Given the description of an element on the screen output the (x, y) to click on. 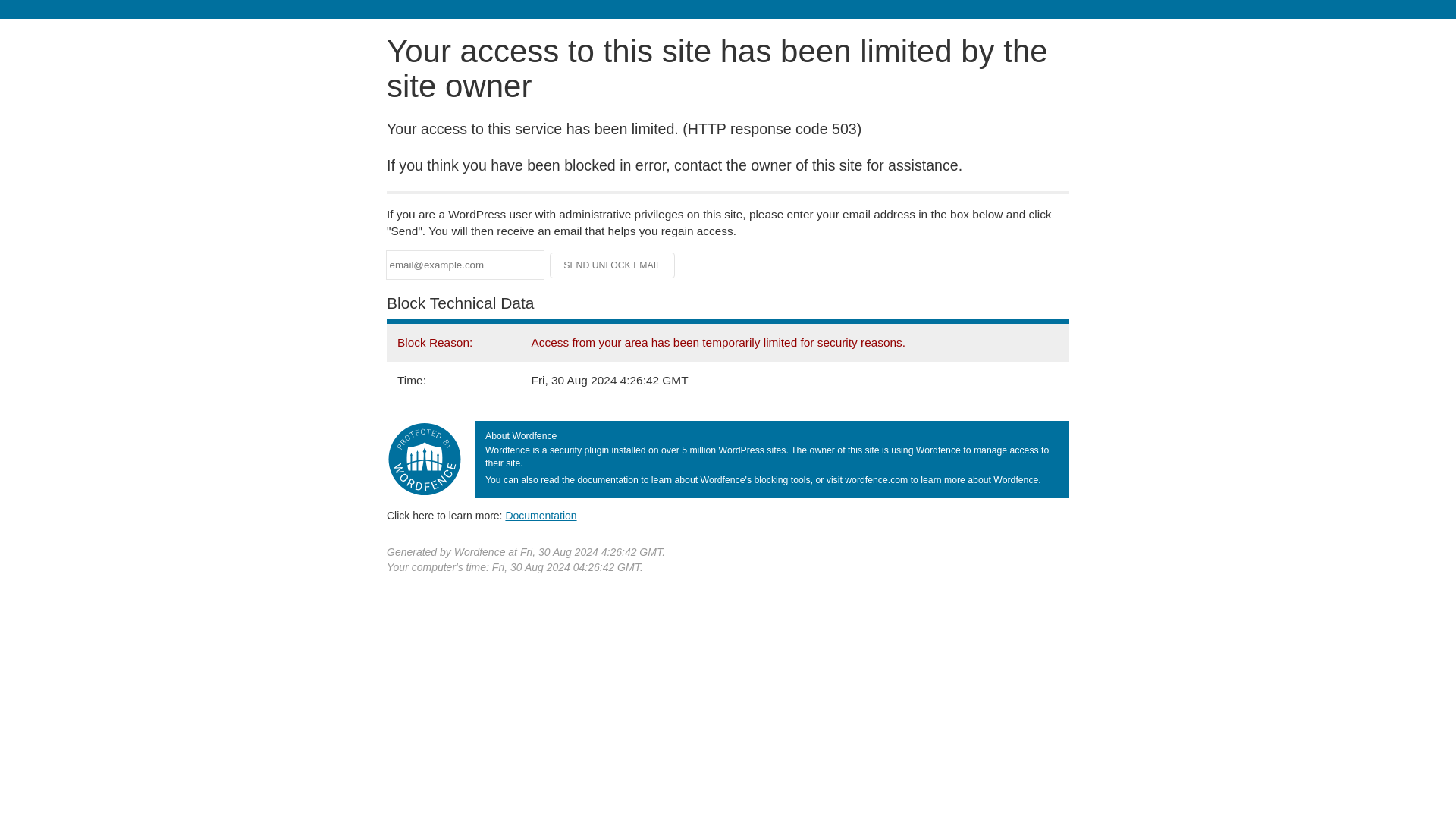
Send Unlock Email (612, 265)
Documentation (540, 515)
Send Unlock Email (612, 265)
